Given the description of an element on the screen output the (x, y) to click on. 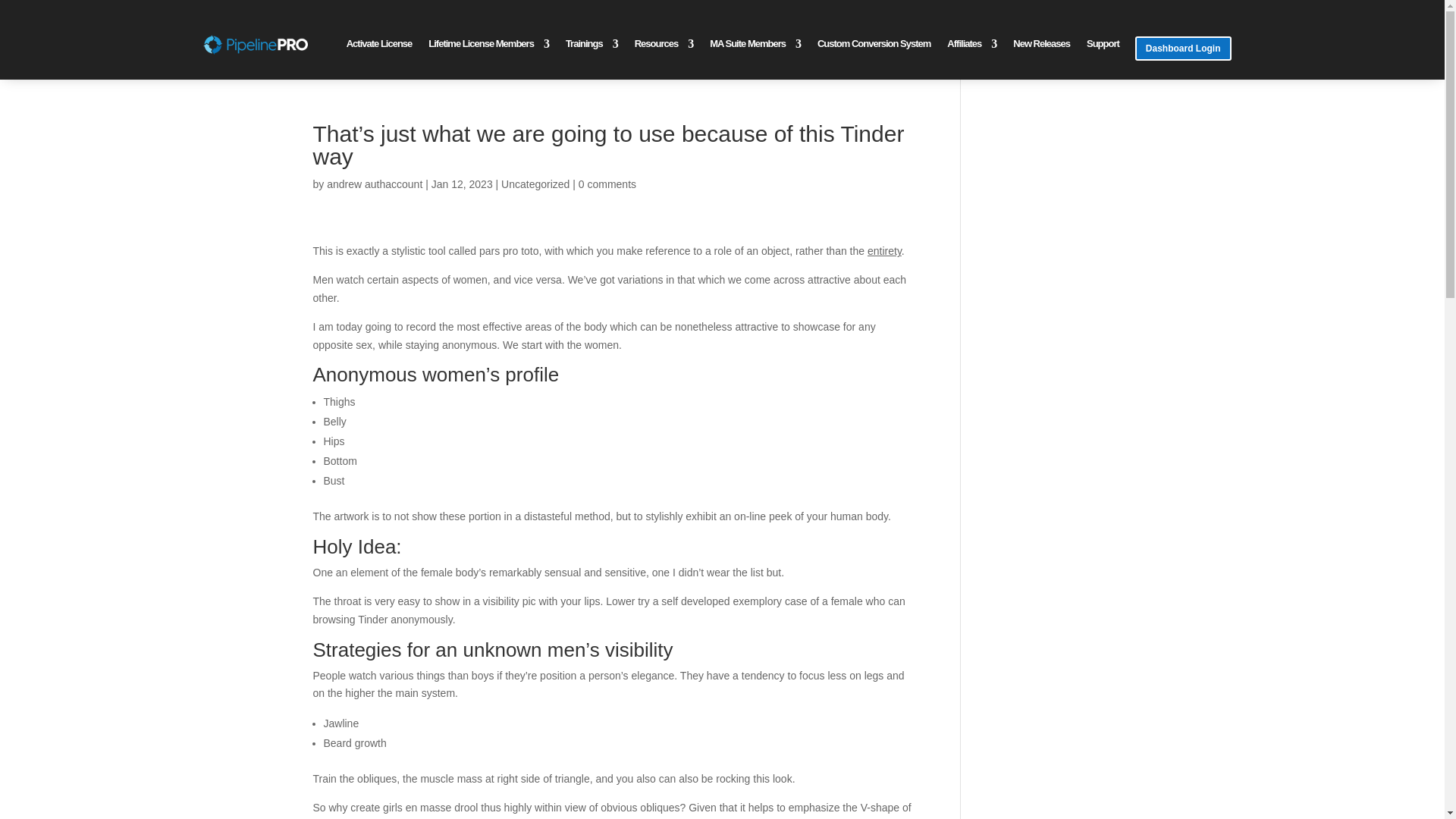
Activate License (379, 46)
Posts by andrew authaccount (374, 184)
Custom Conversion System (873, 46)
MA Suite Members (755, 46)
Lifetime License Members (488, 46)
Resources (663, 46)
Support (1102, 46)
New Releases (1041, 46)
Trainings (591, 46)
Affiliates (971, 46)
